Given the description of an element on the screen output the (x, y) to click on. 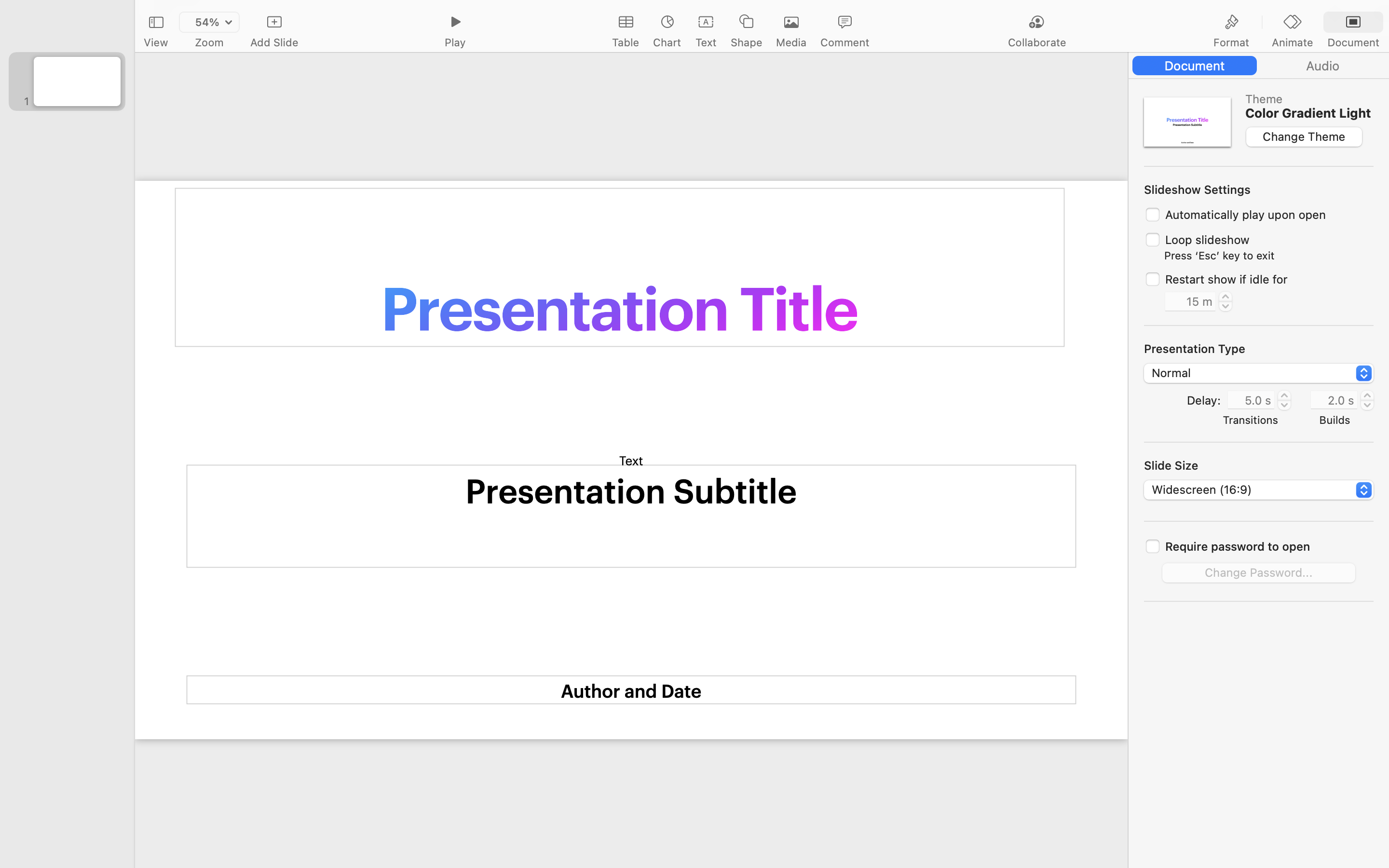
Color Gradient Light Element type: AXStaticText (1307, 112)
Slideshow Settings Element type: AXStaticText (1197, 189)
Transitions Element type: AXStaticText (1250, 419)
<AXUIElement 0x153d7b500> {pid=1697} Element type: AXGroup (1292, 22)
Slide Size Element type: AXStaticText (1170, 465)
